Given the description of an element on the screen output the (x, y) to click on. 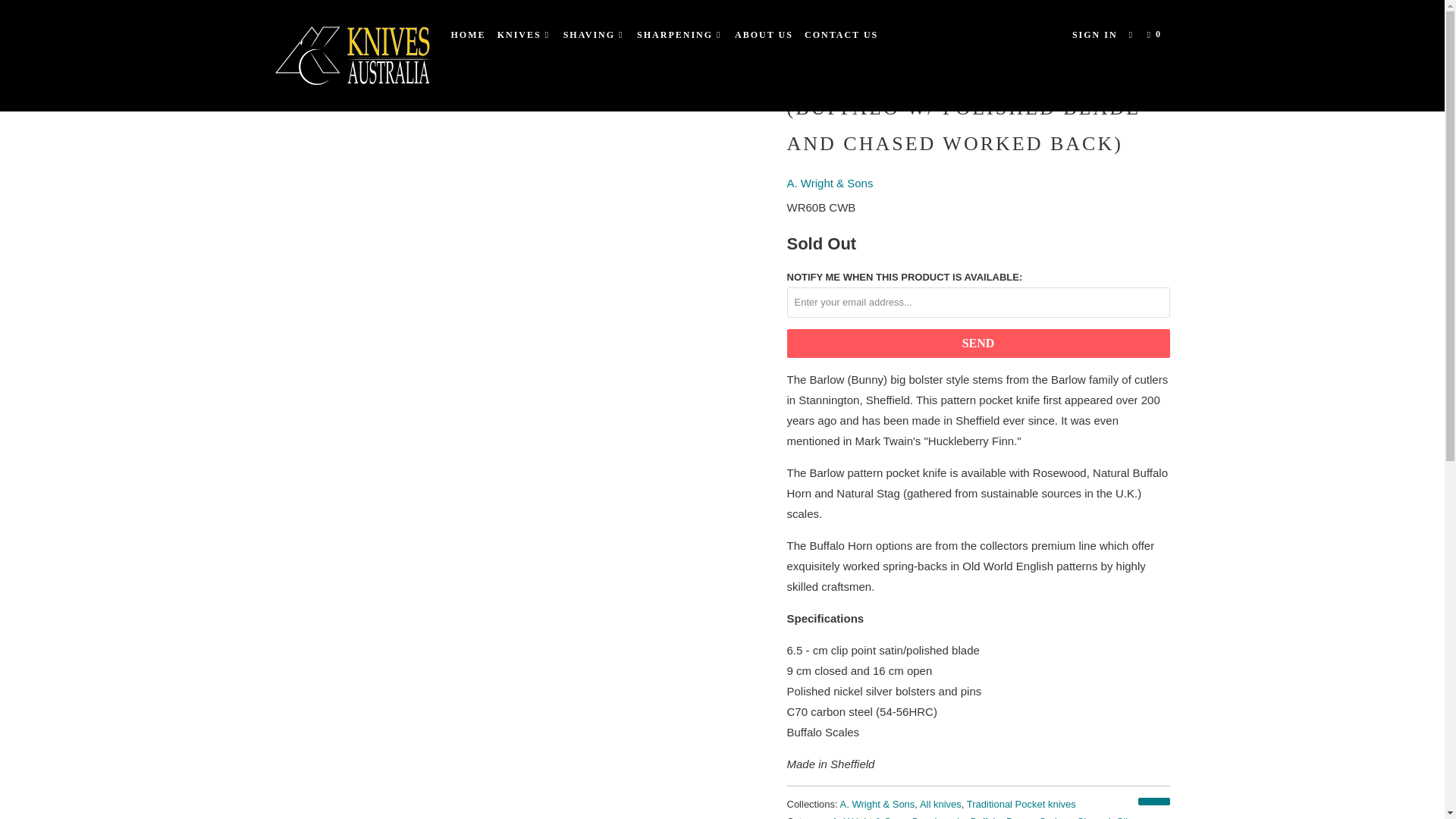
Products tagged Bunny (1019, 817)
Products (335, 30)
Send (978, 343)
All knives (940, 803)
Traditional Pocket knives (1020, 803)
Products tagged Chased (1093, 817)
My Account  (1094, 34)
AKC Knives Australia (352, 55)
SIGN IN (1094, 34)
Products tagged Carbon (1055, 817)
0 (1155, 34)
SHAVING (594, 34)
Products tagged Clip (1124, 817)
Products tagged Benchmade (937, 817)
KNIVES (524, 34)
